Given the description of an element on the screen output the (x, y) to click on. 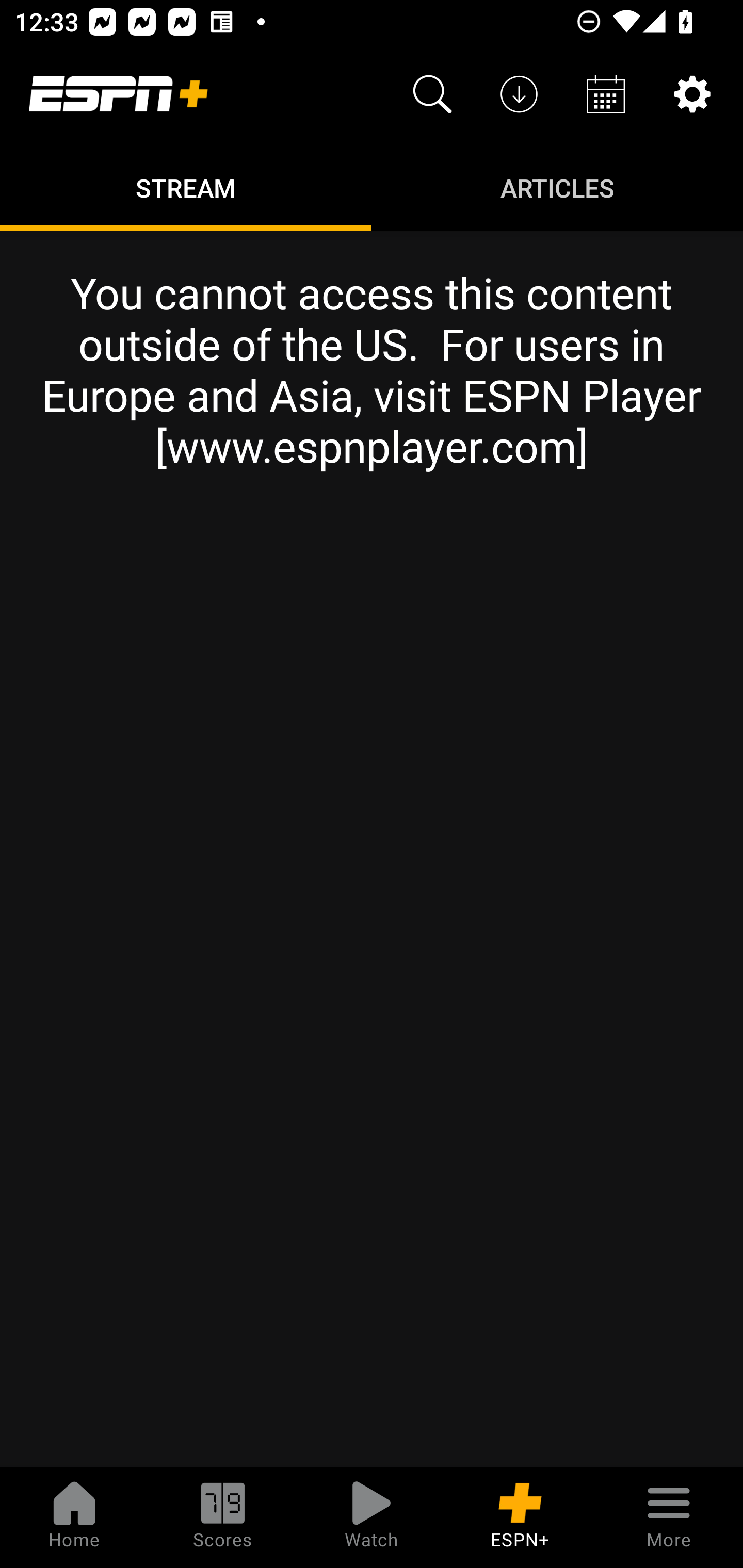
Search (432, 93)
Downloads (518, 93)
Schedule (605, 93)
Settings (692, 93)
Articles ARTICLES (557, 187)
Home (74, 1517)
Scores (222, 1517)
Watch (371, 1517)
More (668, 1517)
